Given the description of an element on the screen output the (x, y) to click on. 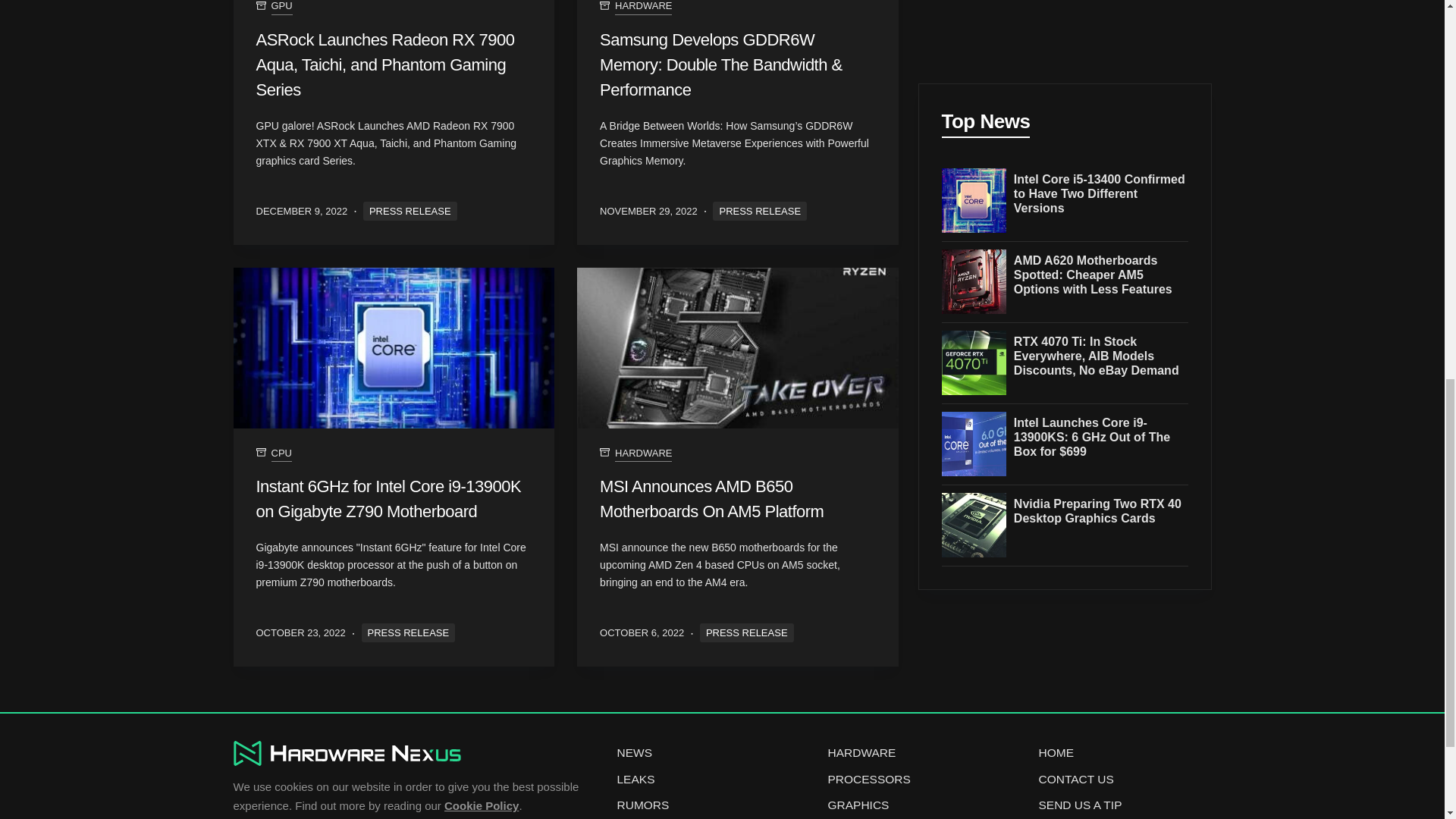
GPU (281, 6)
Hardware Nexus Footer (346, 753)
